Given the description of an element on the screen output the (x, y) to click on. 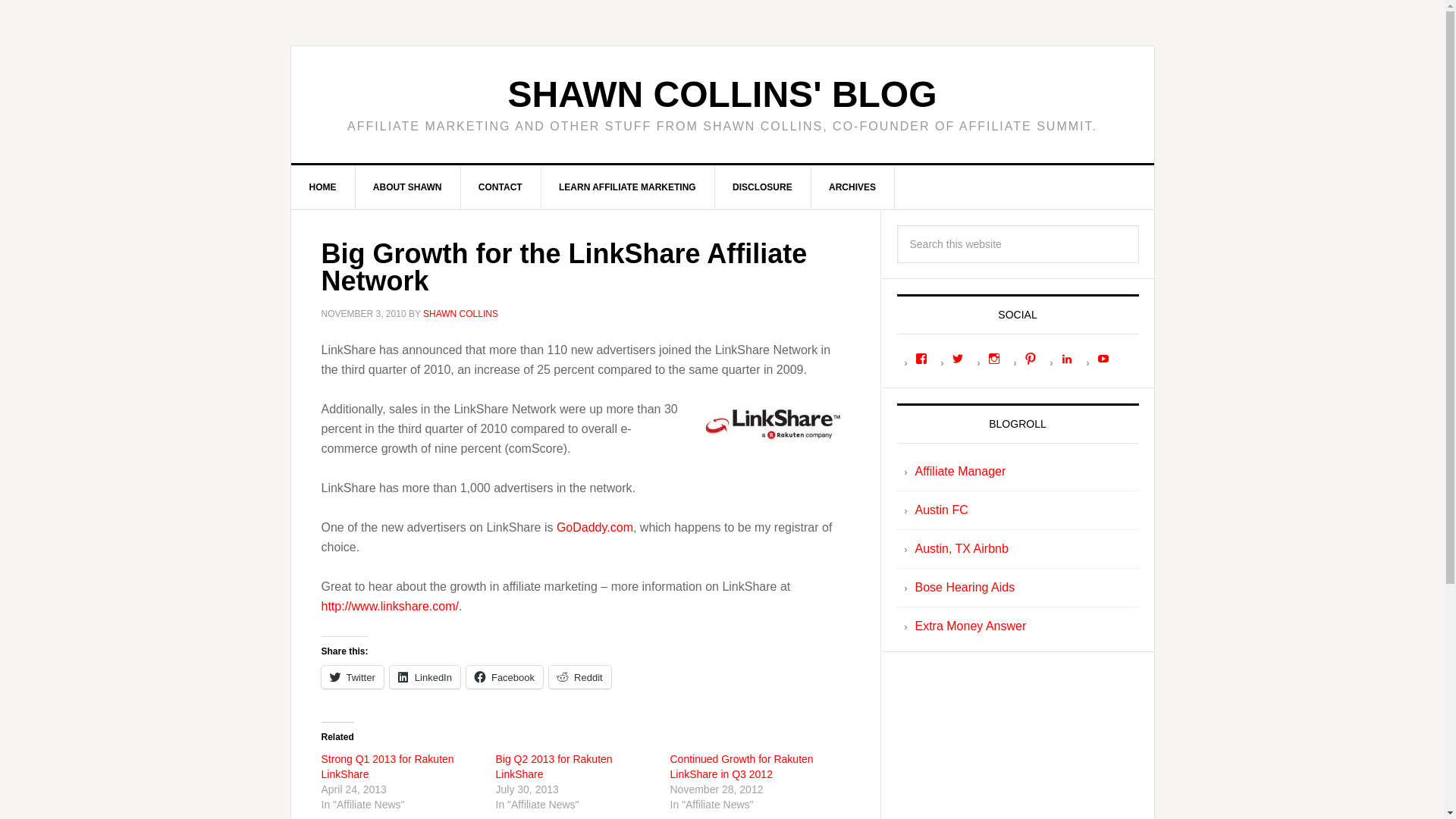
Click to share on Facebook (504, 676)
LinkShare (773, 422)
Click to share on Twitter (352, 676)
ABOUT SHAWN (408, 187)
HOME (323, 187)
Big Q2 2013 for Rakuten LinkShare (554, 766)
DISCLOSURE (762, 187)
Bose Hearing Aids (964, 586)
Big Q2 2013 for Rakuten LinkShare (554, 766)
Strong Q1 2013 for Rakuten LinkShare (387, 766)
